Given the description of an element on the screen output the (x, y) to click on. 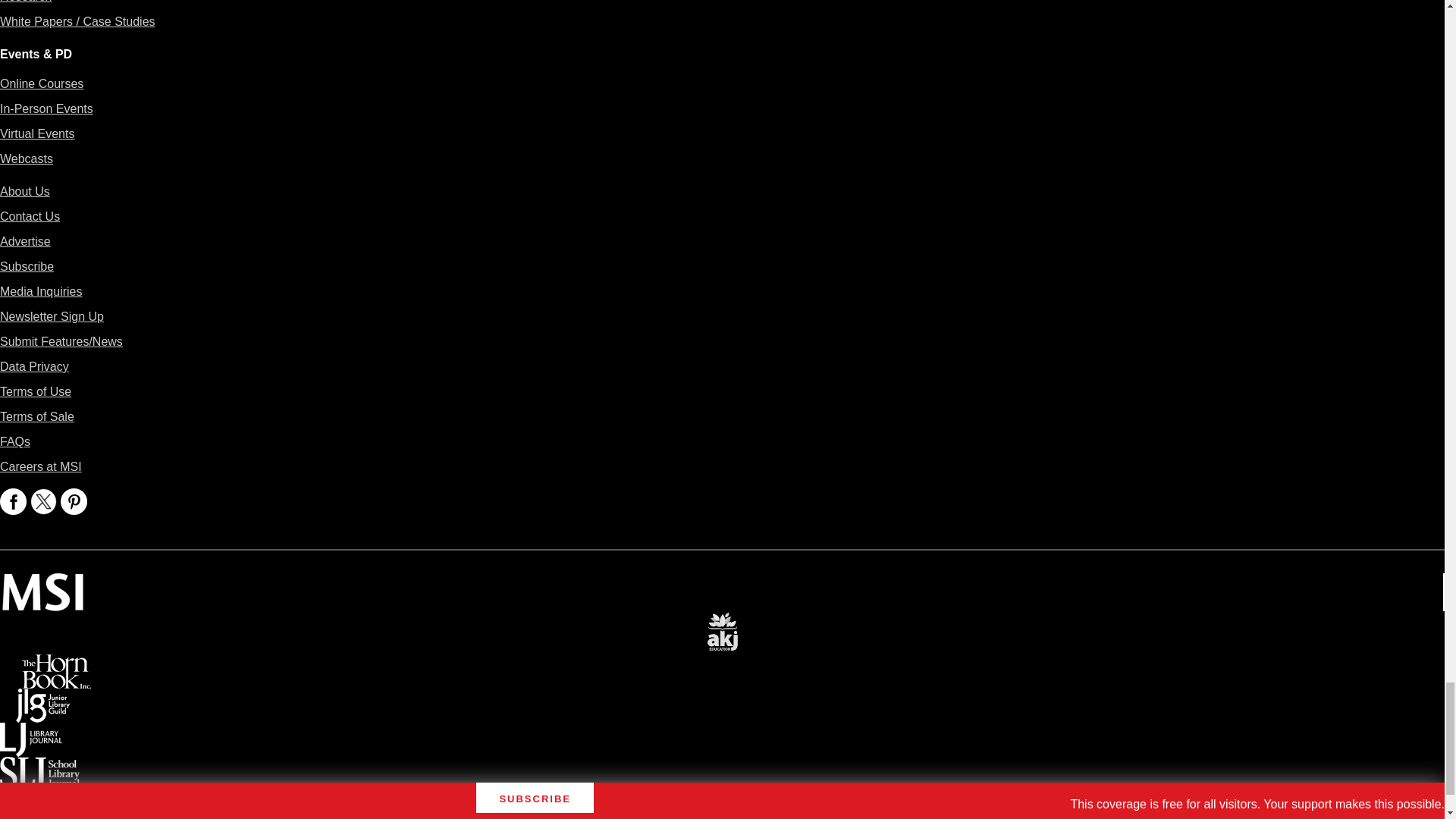
The Horn Book (56, 664)
Media Source Incorporated (42, 583)
AKJ (722, 621)
Junior Library Guild (42, 698)
School Library Journal (40, 767)
